Given the description of an element on the screen output the (x, y) to click on. 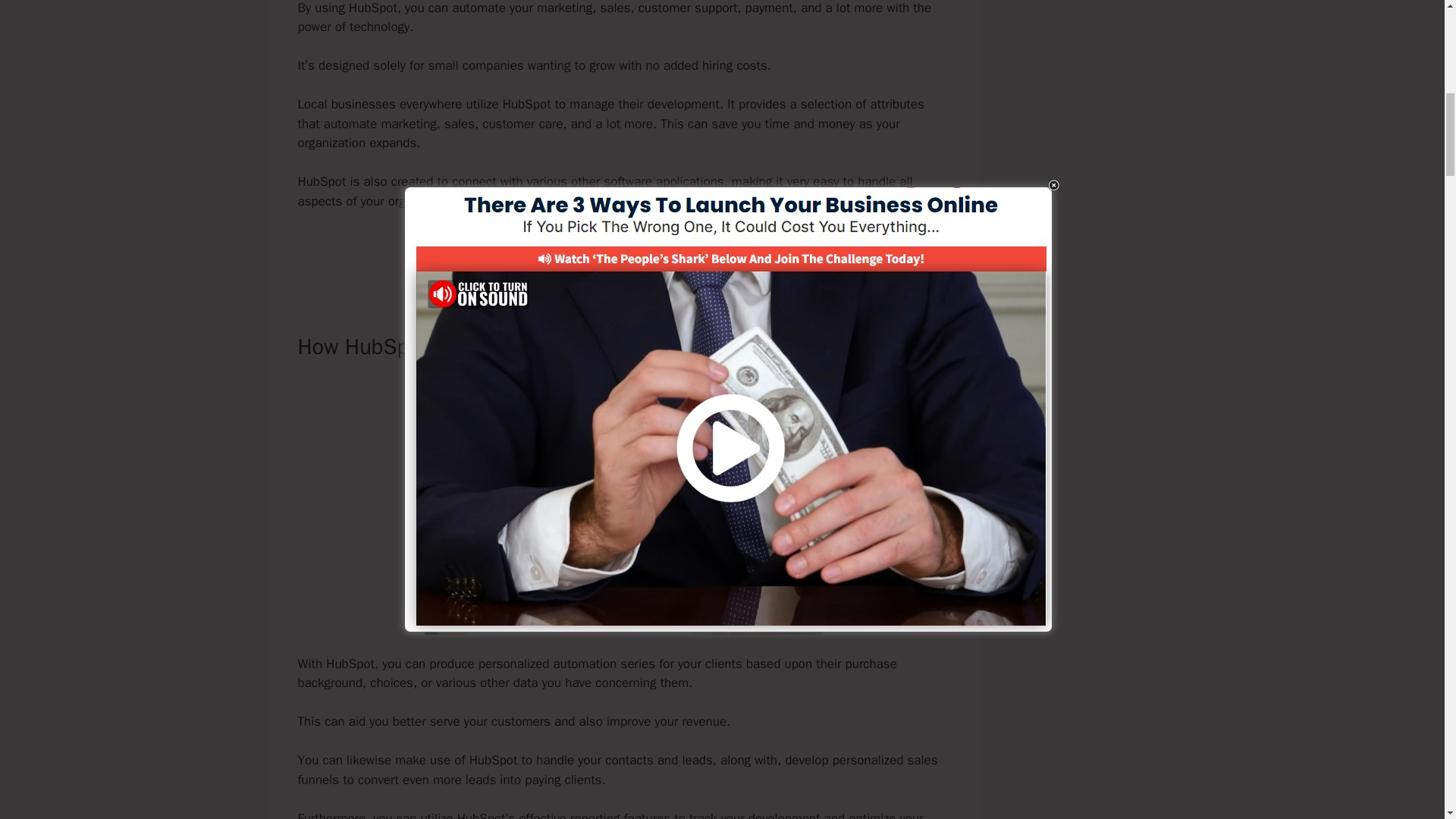
Go Here To See HubSpot In Action (623, 253)
